Given the description of an element on the screen output the (x, y) to click on. 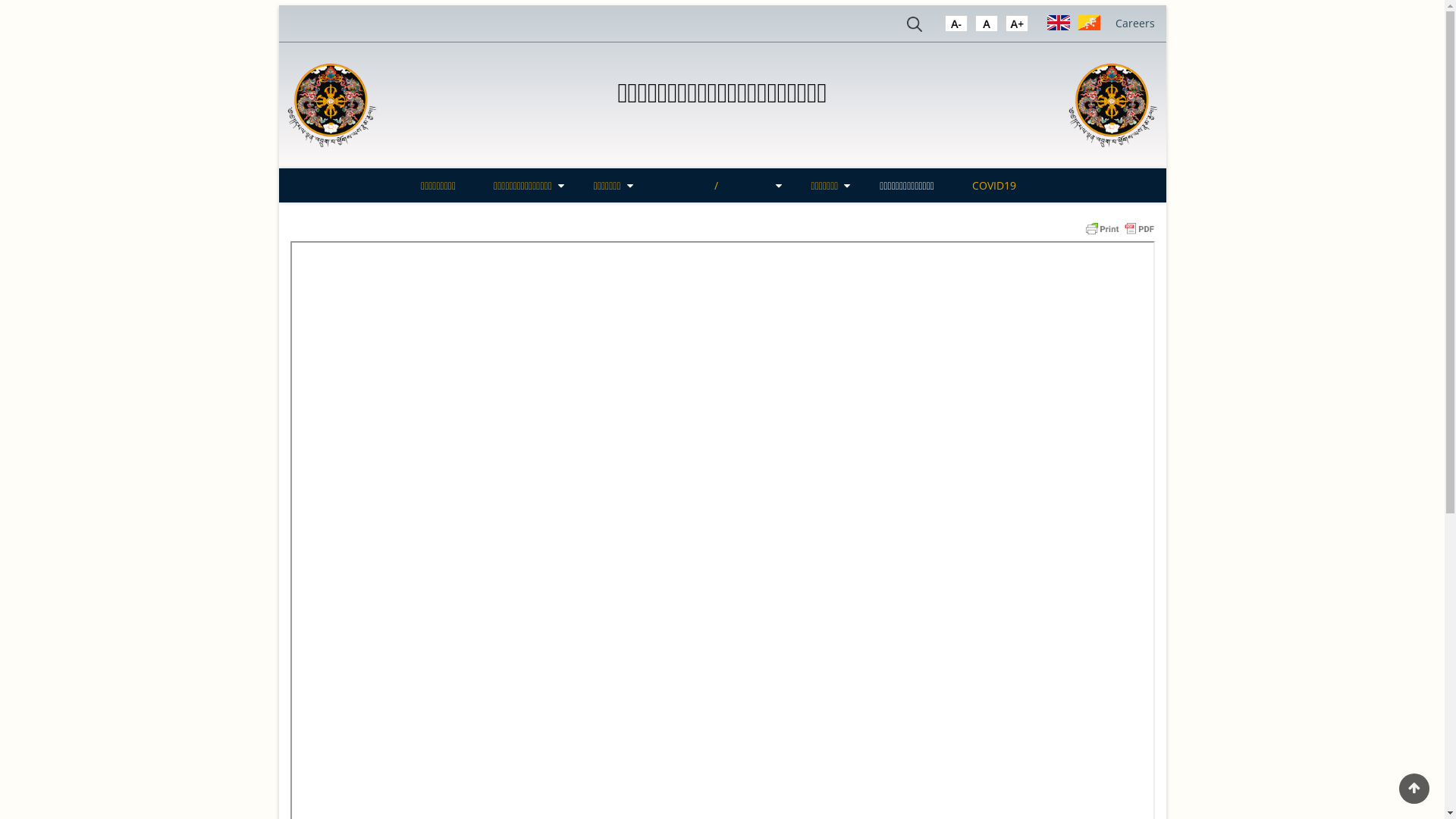
Back to Top Element type: hover (1414, 788)
Home Element type: hover (331, 105)
Printer Friendly, PDF & Email Element type: hover (1119, 227)
Search Element type: text (914, 26)
A Element type: text (1016, 26)
Careers Element type: text (1134, 22)
Skip to main content Element type: text (0, 0)
A Element type: text (986, 26)
A Element type: text (955, 26)
Home Element type: hover (1112, 105)
COVID19 Element type: text (994, 185)
